Given the description of an element on the screen output the (x, y) to click on. 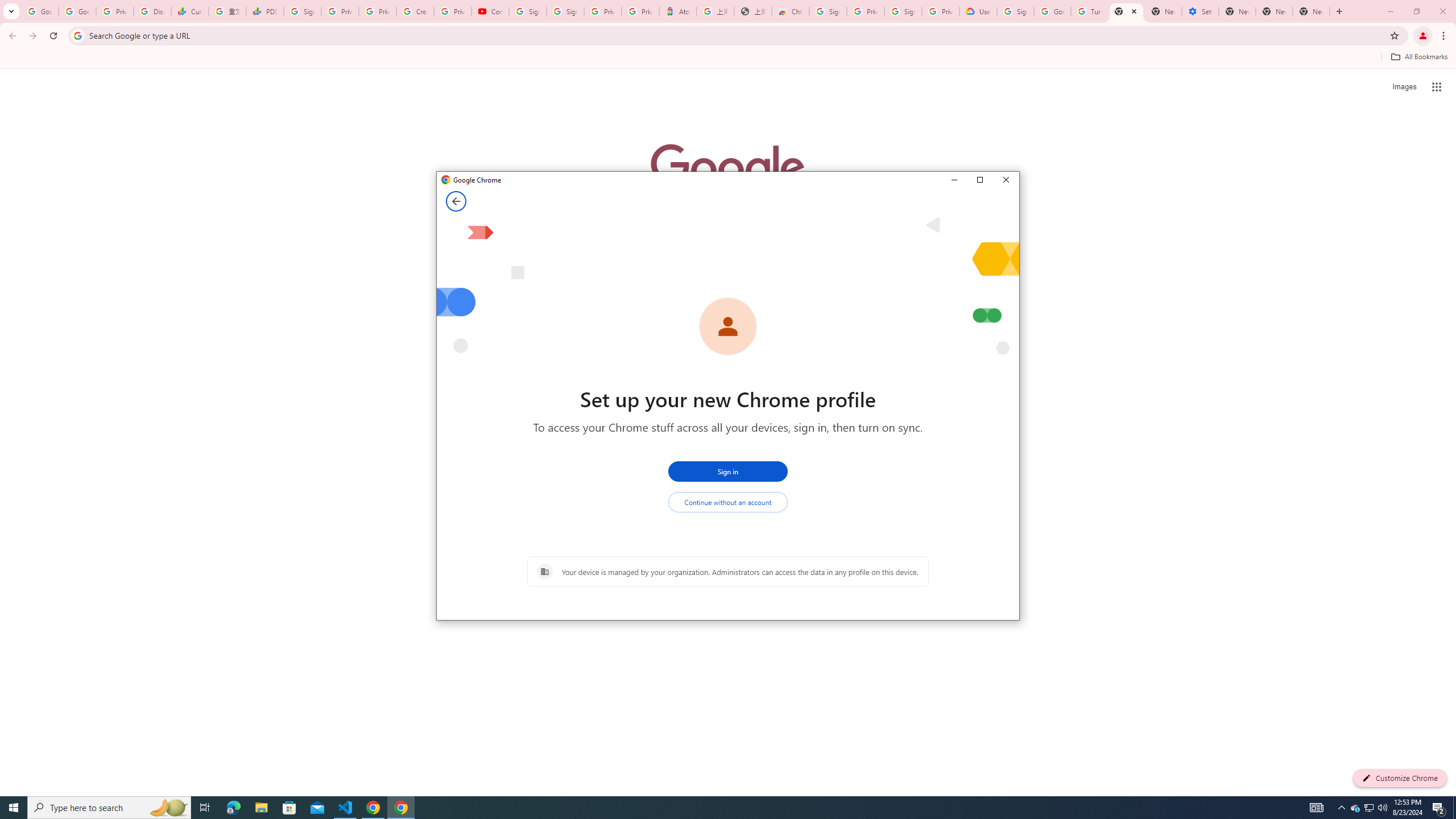
Microsoft Store (289, 807)
Action Center, 2 new notifications (1439, 807)
Sign in - Google Accounts (1368, 807)
Visual Studio Code - 1 running window (565, 11)
